Given the description of an element on the screen output the (x, y) to click on. 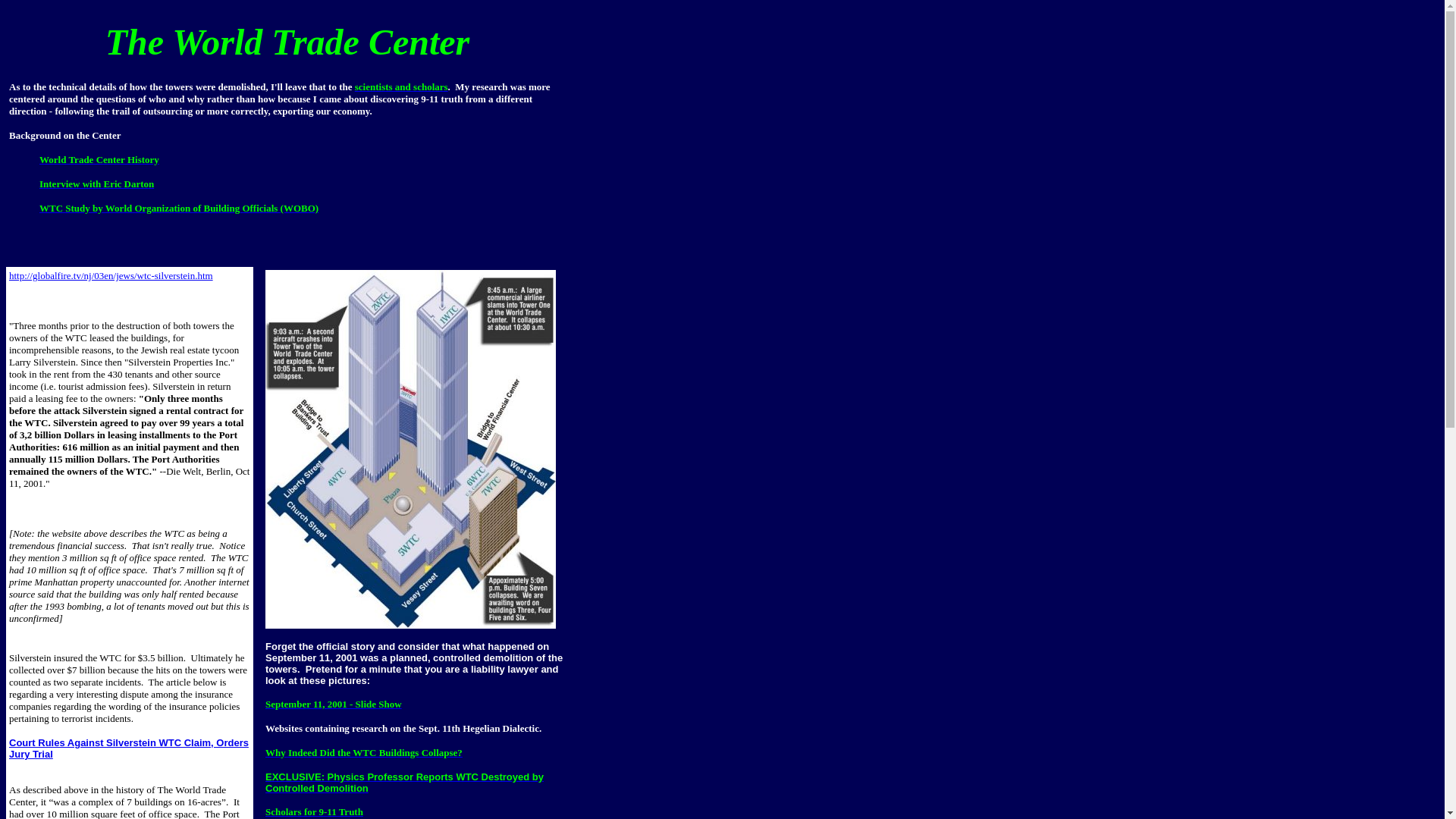
scientists and scholars (401, 86)
World Trade Center History (98, 159)
Scholars for 9-11 Truth (313, 811)
September 11, 2001 - Slide Show (332, 704)
Interview with Eric Darton (96, 183)
Why Indeed Did the WTC Buildings Collapse? (363, 751)
Court Rules Against Silverstein WTC Claim, Orders Jury Trial (128, 748)
